Given the description of an element on the screen output the (x, y) to click on. 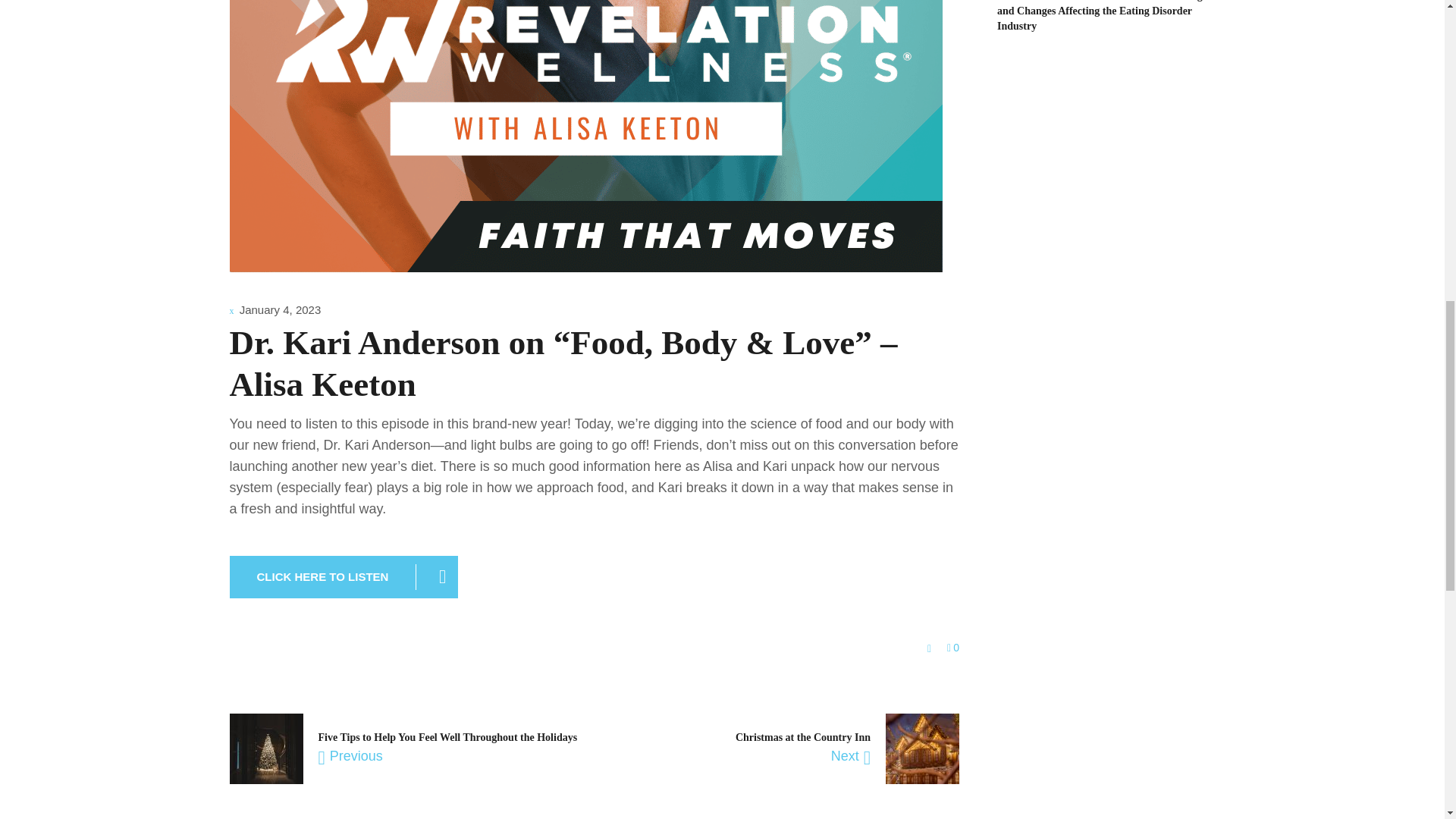
Like this (953, 647)
Christmas at the Country Inn (802, 737)
Five Tips to Help You Feel Well Throughout the Holidays (448, 737)
